Given the description of an element on the screen output the (x, y) to click on. 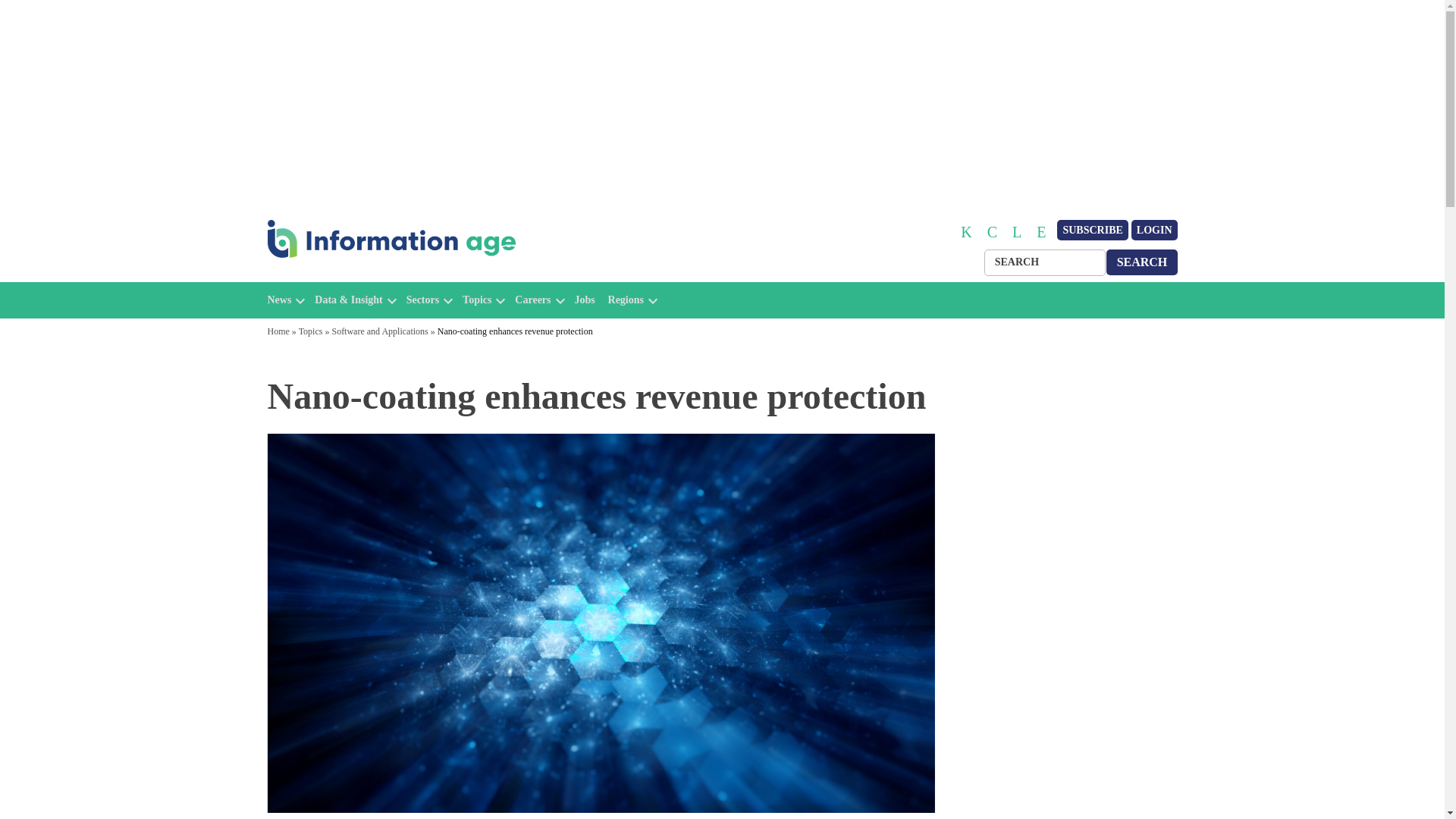
3rd party ad content (195, 596)
SUBSCRIBE (1091, 230)
SEARCH (1142, 261)
Information Age (331, 275)
News (278, 299)
LOGIN (1154, 230)
3rd party ad content (1249, 596)
Sectors (422, 299)
3rd party ad content (1062, 469)
